Given the description of an element on the screen output the (x, y) to click on. 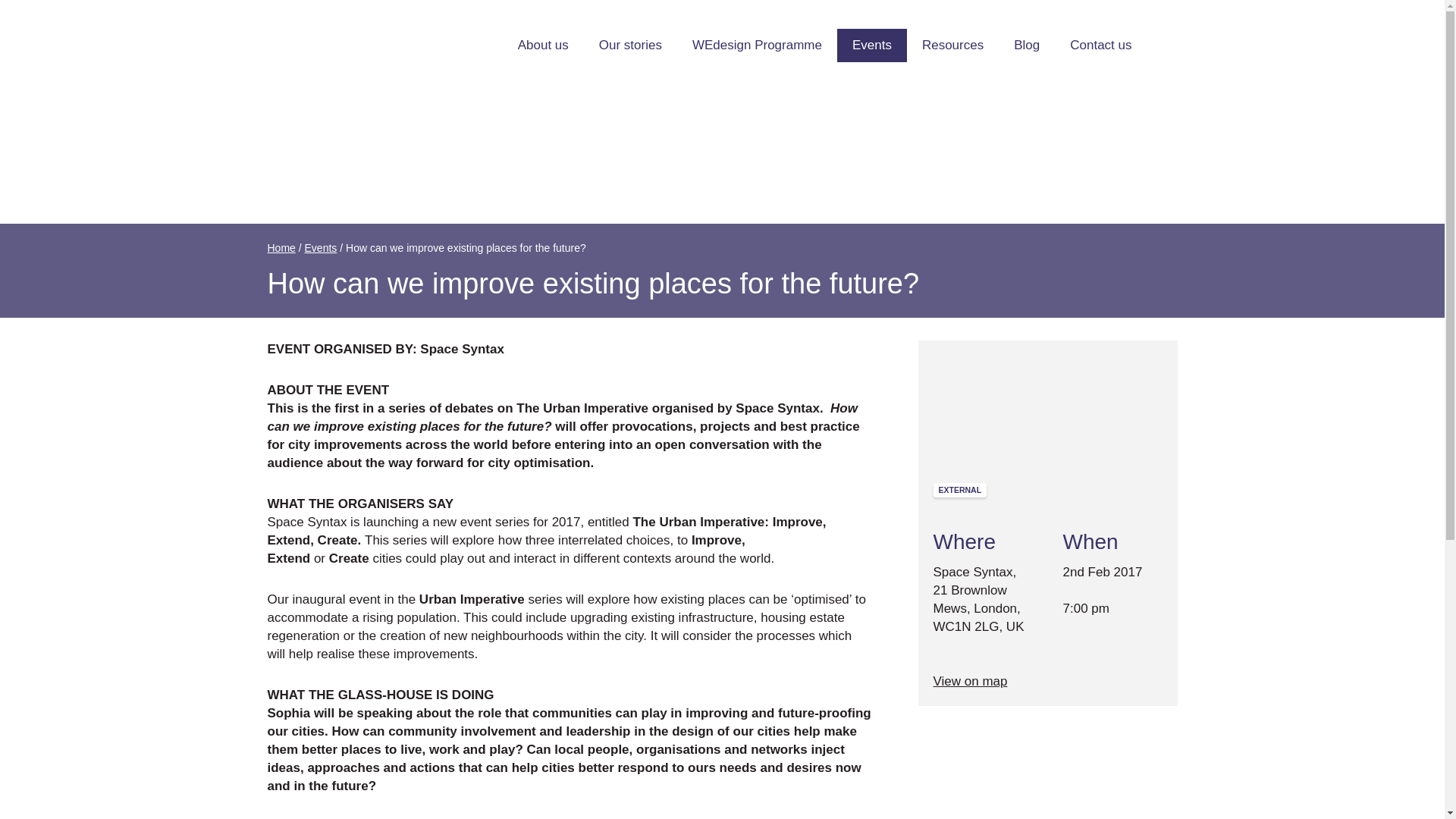
Home (280, 247)
About us (542, 45)
WEdesign Programme (757, 45)
Resources (952, 45)
Events (872, 45)
Go back to The Glass-House homepage (325, 45)
Our stories (630, 45)
Blog (1026, 45)
Contact us (1100, 45)
